Given the description of an element on the screen output the (x, y) to click on. 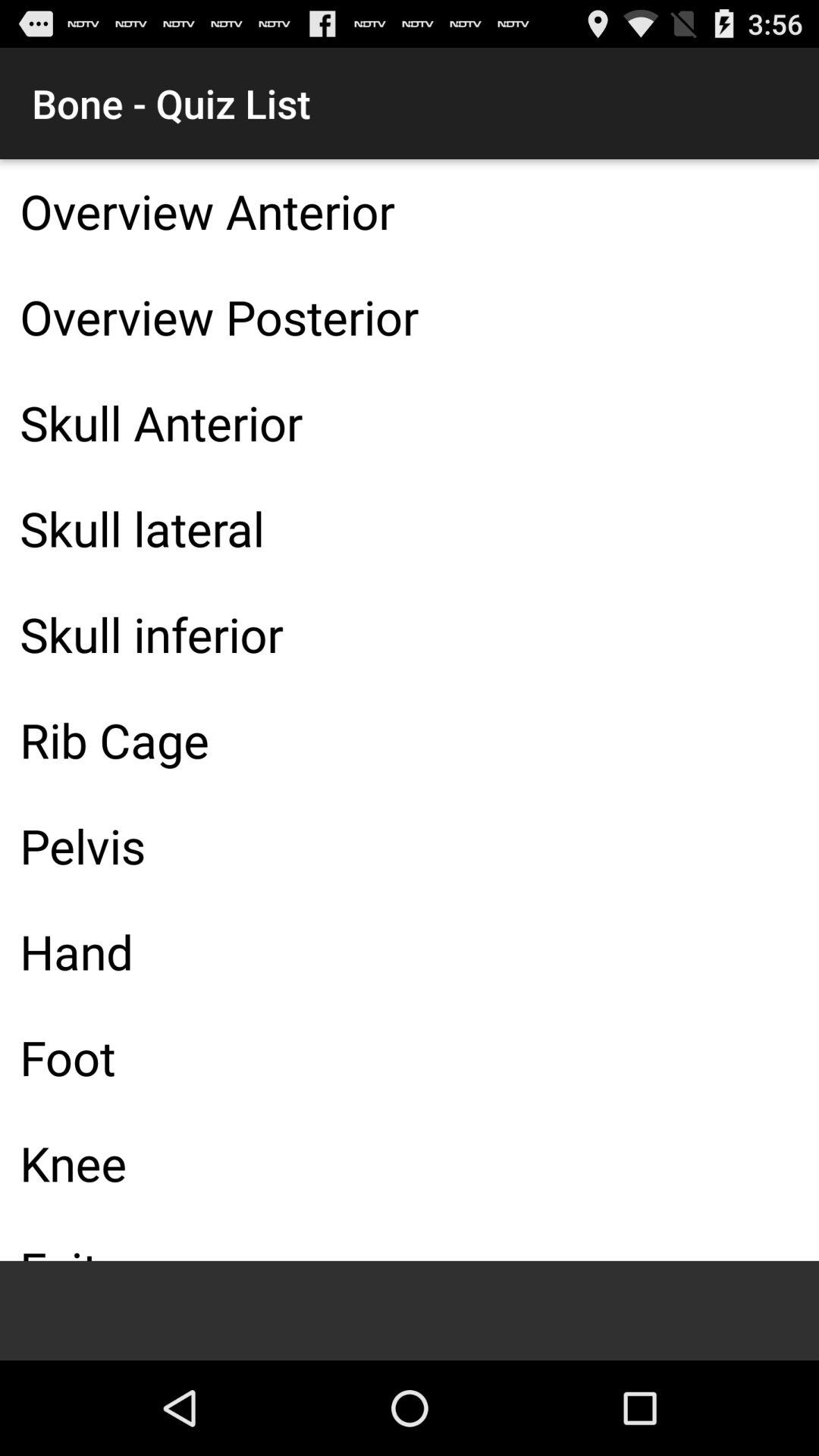
choose the skull lateral (409, 528)
